Given the description of an element on the screen output the (x, y) to click on. 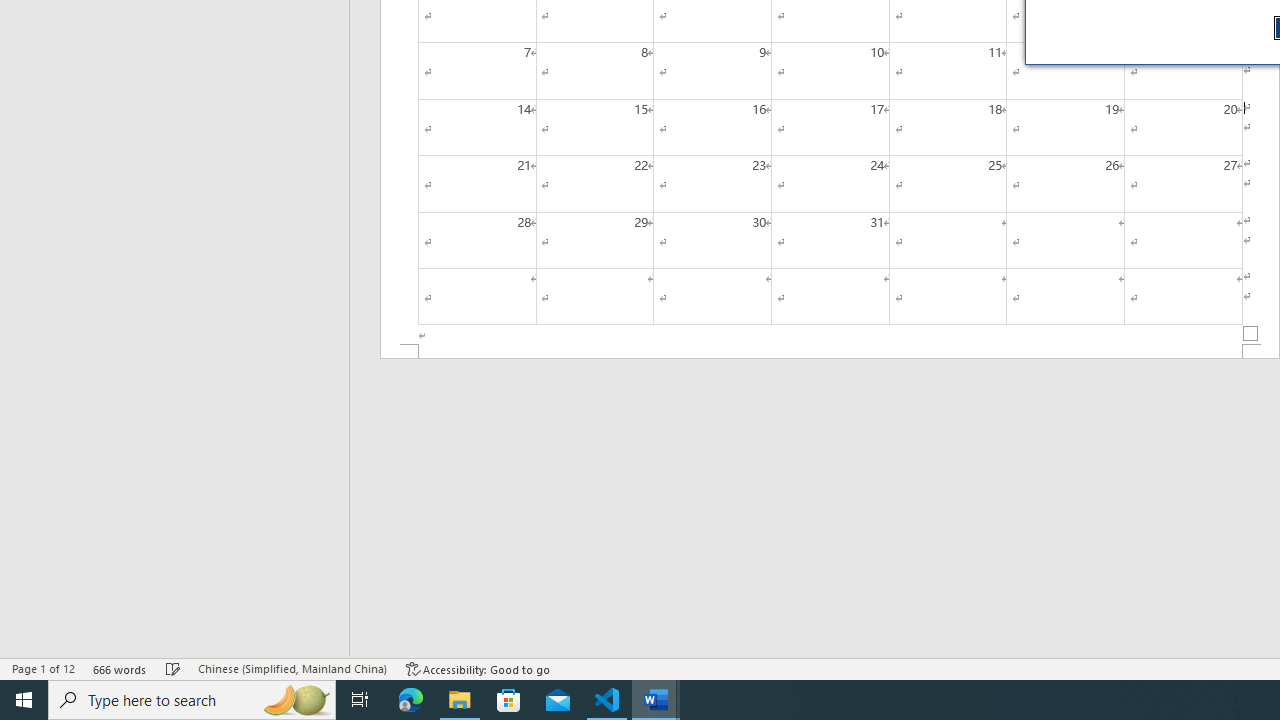
File Explorer - 1 running window (460, 699)
Word Count 666 words (119, 668)
Microsoft Edge (411, 699)
Accessibility Checker Accessibility: Good to go (478, 668)
Type here to search (191, 699)
Language Chinese (Simplified, Mainland China) (292, 668)
Spelling and Grammar Check Checking (173, 668)
Page Number Page 1 of 12 (43, 668)
Task View (359, 699)
Word - 2 running windows (656, 699)
Search highlights icon opens search home window (295, 699)
Microsoft Store (509, 699)
Footer -Section 1- (830, 351)
